Given the description of an element on the screen output the (x, y) to click on. 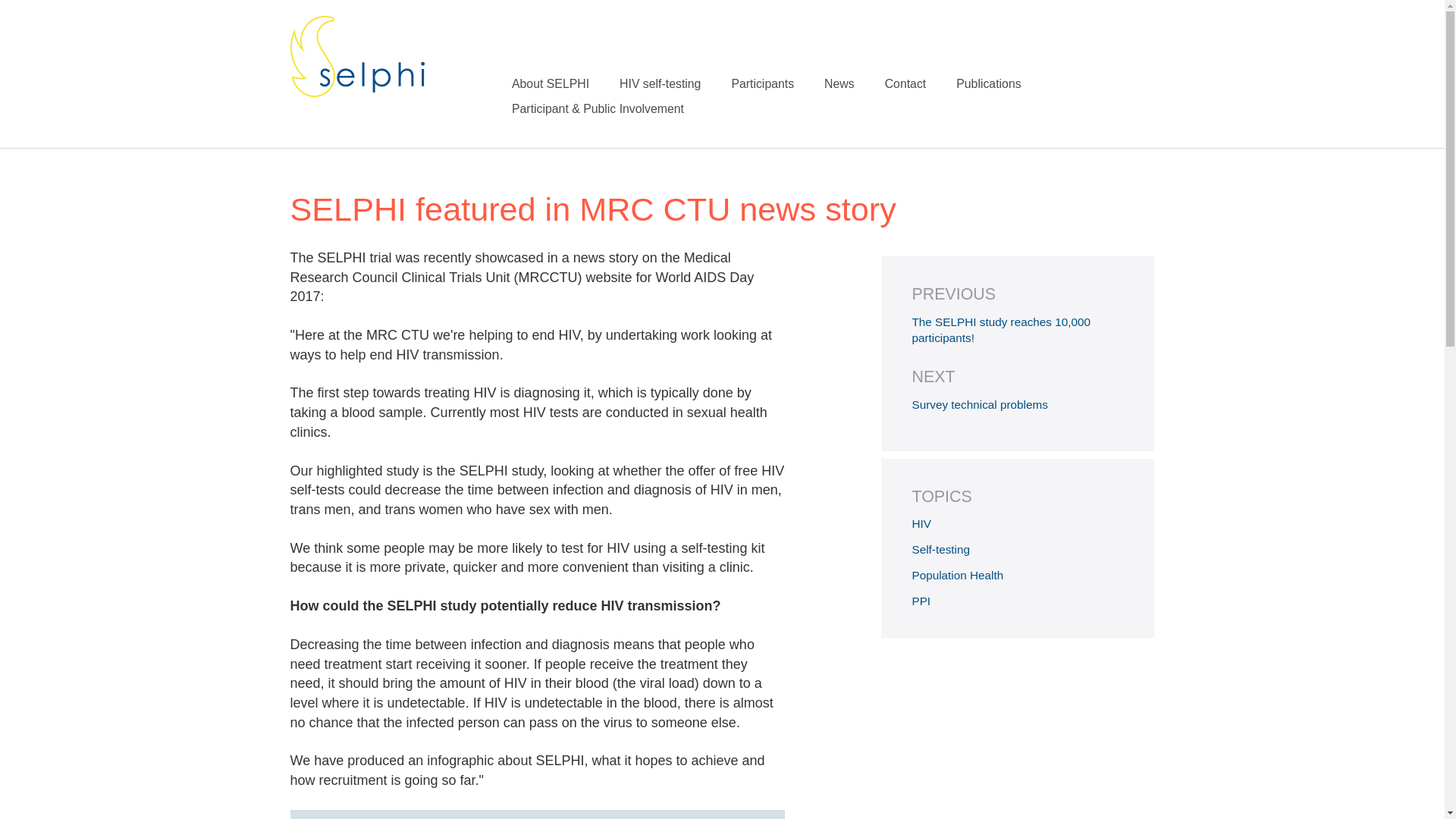
The SELPHI study reaches 10,000 participants! (1000, 329)
HIV (921, 522)
Self-testing (940, 549)
News (854, 83)
About SELPHI (566, 83)
Publications (1003, 83)
Population Health (957, 574)
Survey technical problems (978, 404)
PPI (920, 600)
Contact (920, 83)
